Given the description of an element on the screen output the (x, y) to click on. 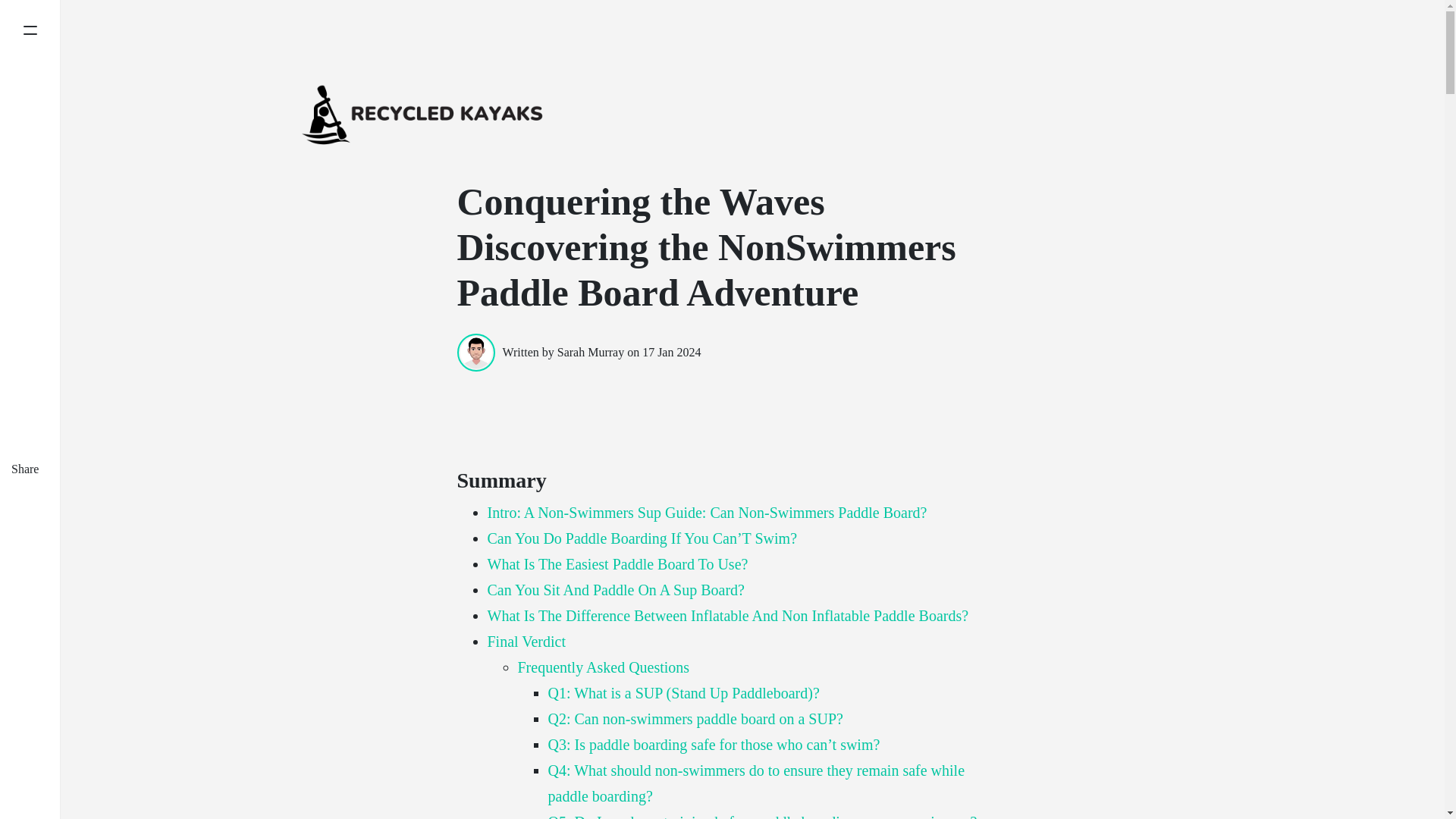
What Is The Easiest Paddle Board To Use? (617, 564)
Final Verdict (526, 641)
Q2: Can non-swimmers paddle board on a SUP? (695, 718)
Frequently Asked Questions (602, 667)
Can You Sit And Paddle On A Sup Board? (615, 589)
